Given the description of an element on the screen output the (x, y) to click on. 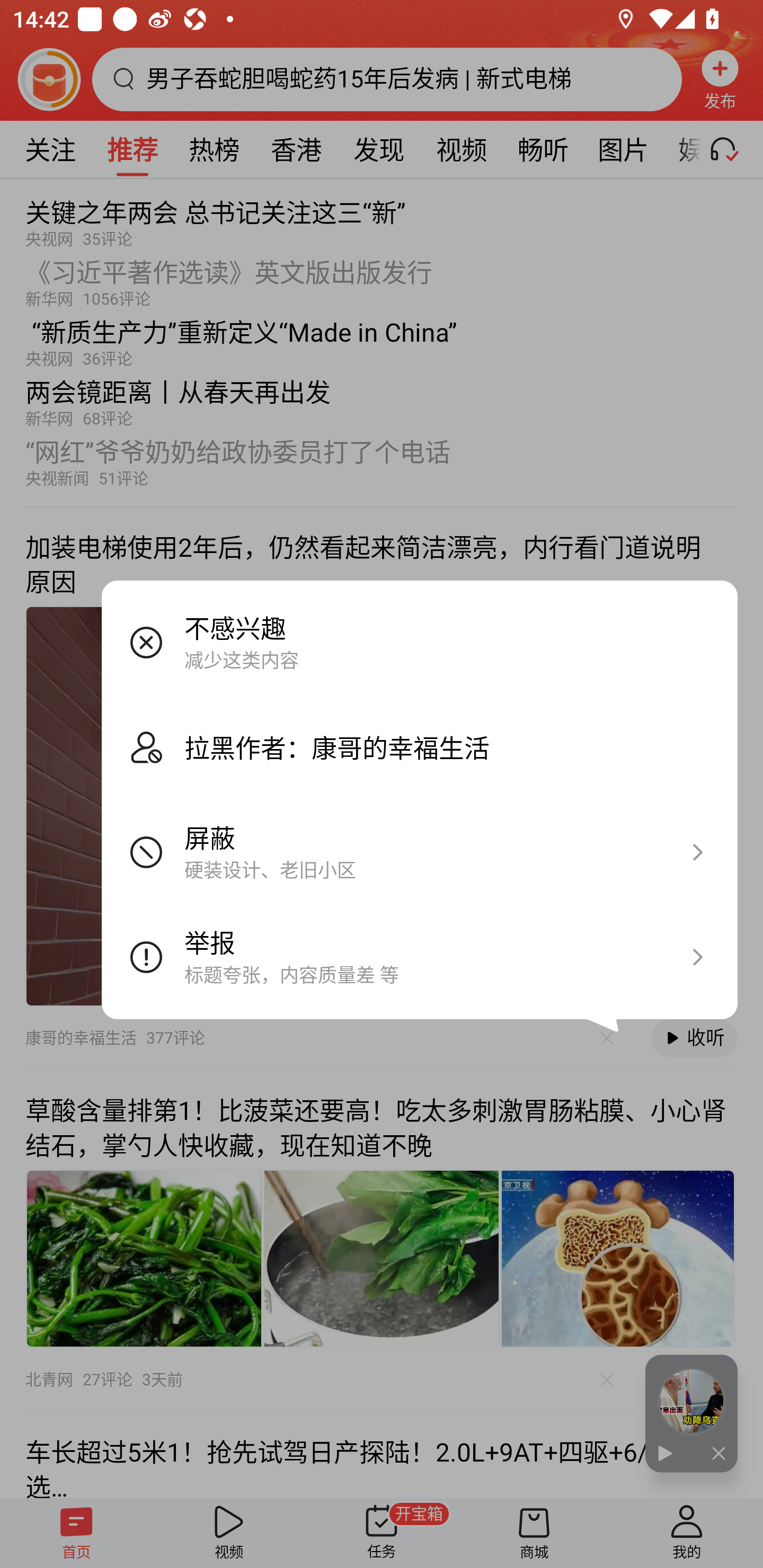
不感兴趣 减少这类内容 (419, 641)
拉黑作者：康哥的幸福生活 (419, 746)
屏蔽 硬装设计、老旧小区 (419, 851)
举报 标题夸张，内容质量差 等 (419, 956)
